Given the description of an element on the screen output the (x, y) to click on. 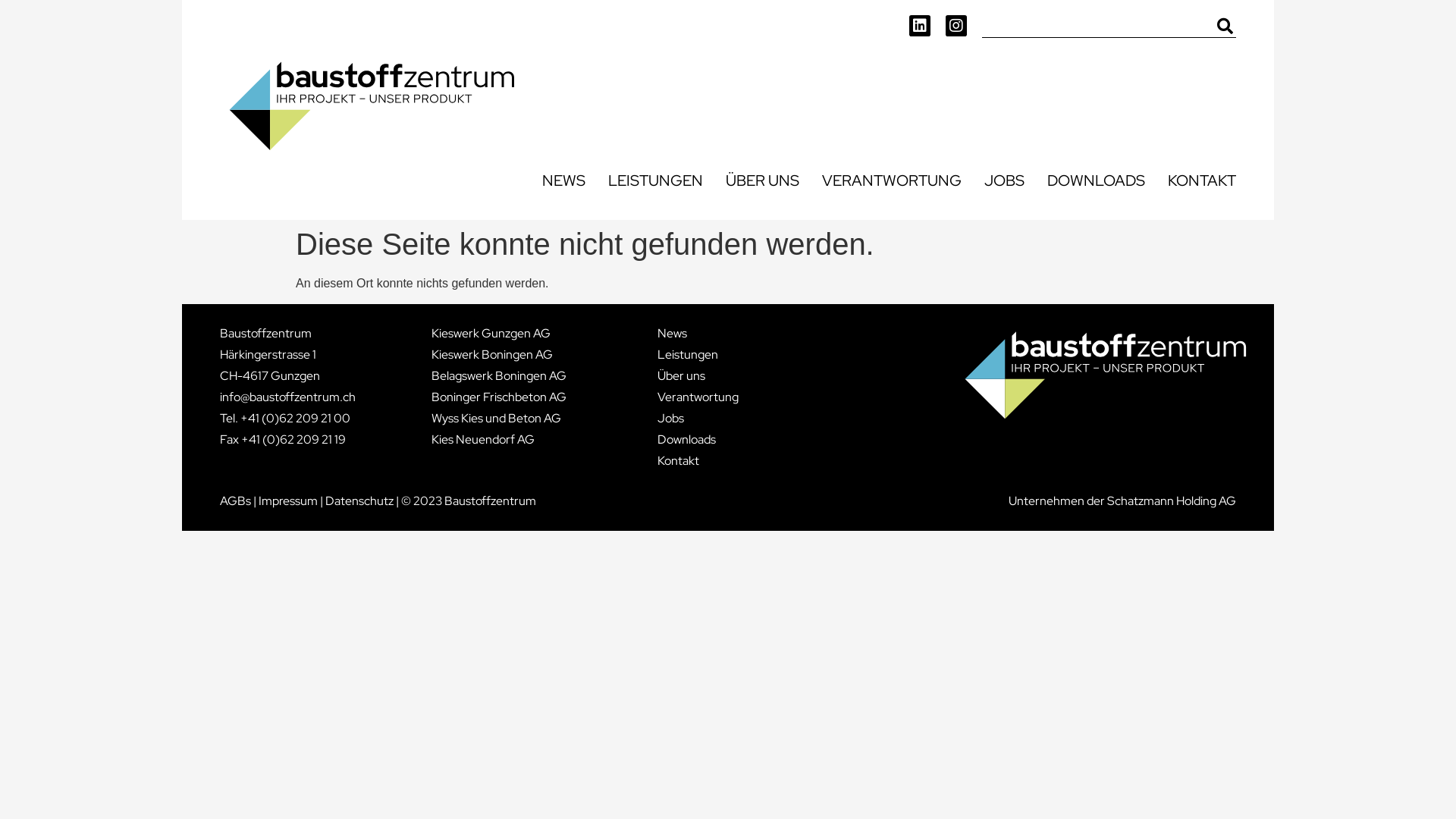
Datenschutz Element type: text (359, 500)
VERANTWORTUNG Element type: text (891, 180)
info@baustoffzentrum.ch Element type: text (287, 396)
Verantwortung Element type: text (697, 396)
Leistungen Element type: text (697, 354)
DOWNLOADS Element type: text (1096, 180)
KONTAKT Element type: text (1201, 180)
LEISTUNGEN Element type: text (655, 180)
Jobs Element type: text (697, 418)
NEWS Element type: text (563, 180)
+41 (0)62 209 21 19 Element type: text (293, 439)
AGBs Element type: text (235, 500)
Kontakt Element type: text (697, 460)
News Element type: text (697, 333)
Downloads Element type: text (697, 439)
JOBS Element type: text (1004, 180)
Impressum Element type: text (287, 500)
+41 (0)62 209 21 00 Element type: text (295, 418)
